Given the description of an element on the screen output the (x, y) to click on. 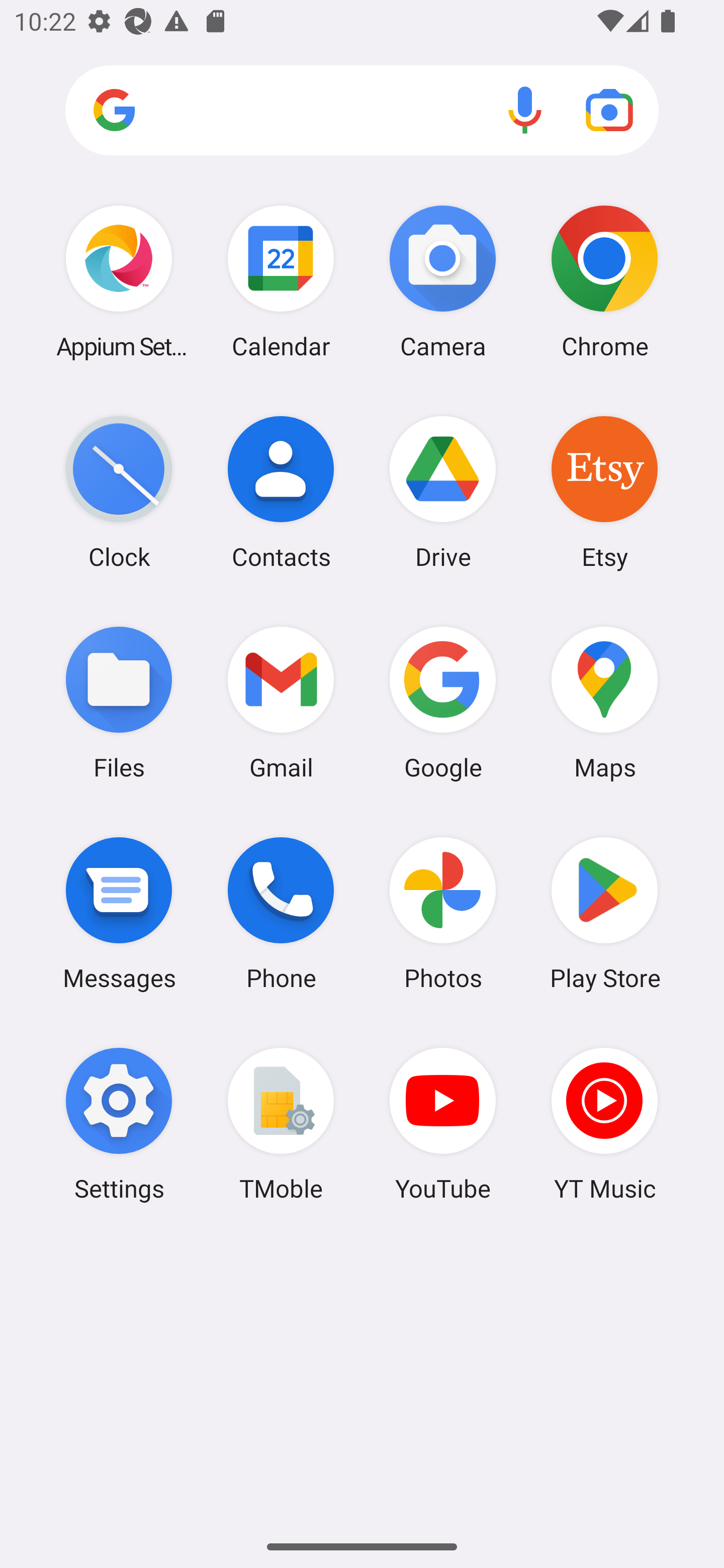
Search apps, web and more (361, 110)
Voice search (524, 109)
Google Lens (608, 109)
Appium Settings (118, 281)
Calendar (280, 281)
Camera (443, 281)
Chrome (604, 281)
Clock (118, 492)
Contacts (280, 492)
Drive (443, 492)
Etsy (604, 492)
Files (118, 702)
Gmail (280, 702)
Google (443, 702)
Maps (604, 702)
Messages (118, 913)
Phone (280, 913)
Photos (443, 913)
Play Store (604, 913)
Settings (118, 1124)
TMoble (280, 1124)
YouTube (443, 1124)
YT Music (604, 1124)
